Given the description of an element on the screen output the (x, y) to click on. 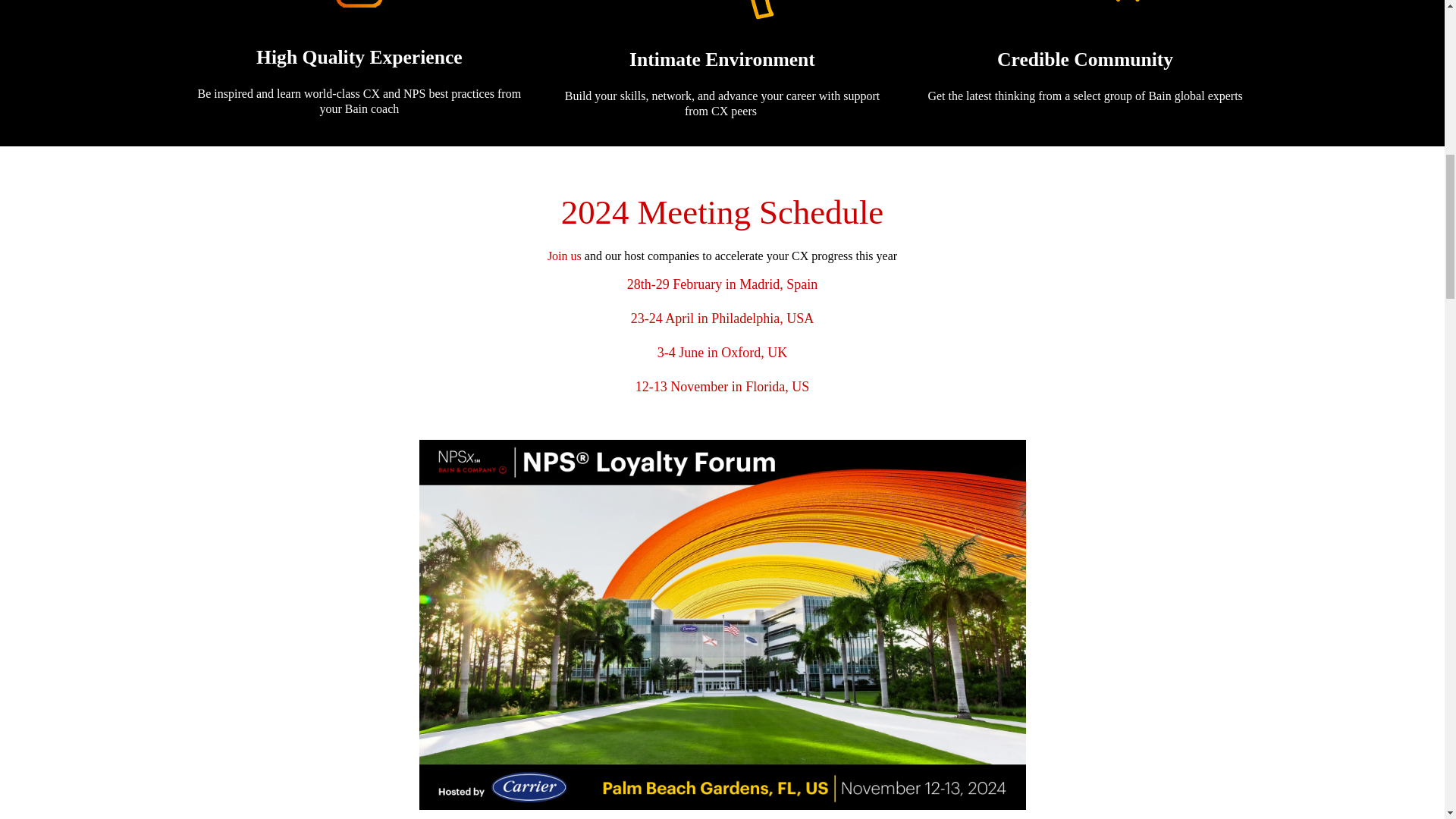
Join us (563, 255)
28th-29 February in Madrid, Spain (721, 284)
3-4 June in Oxford, UK (722, 352)
23-24 April in Philadelphia, USA (721, 318)
12-13 November in Florida, US (721, 386)
